Given the description of an element on the screen output the (x, y) to click on. 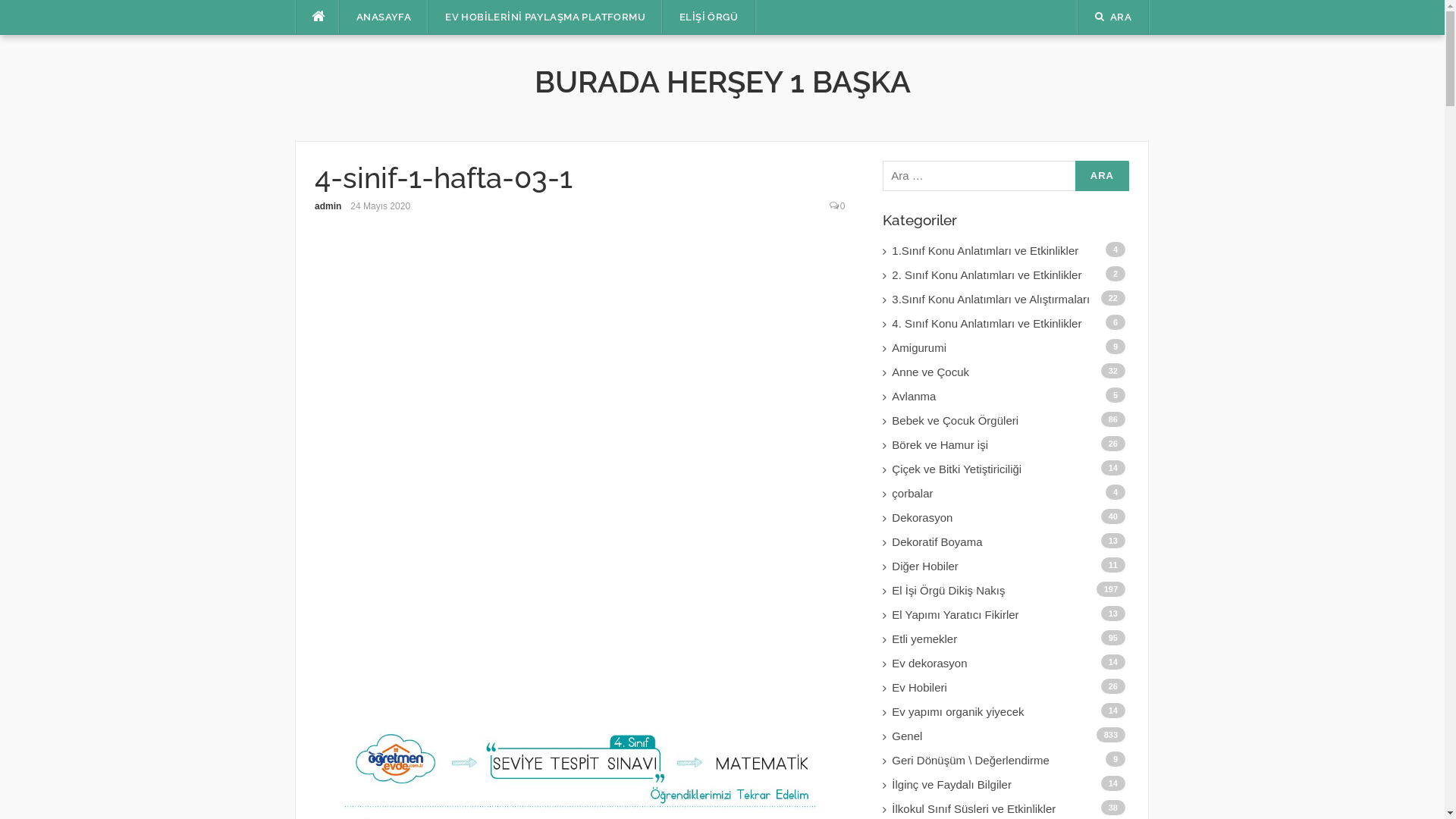
ARA Element type: text (1113, 16)
Etli yemekler Element type: text (1010, 639)
admin Element type: text (327, 205)
Ara Element type: text (1102, 175)
Dekorasyon Element type: text (1010, 517)
Ev Hobileri Element type: text (1010, 687)
Genel Element type: text (1010, 736)
0 Element type: text (842, 205)
Dekoratif Boyama Element type: text (1010, 542)
Ev dekorasyon Element type: text (1010, 663)
Amigurumi Element type: text (1010, 347)
Avlanma Element type: text (1010, 396)
ANASAYFA Element type: text (383, 17)
Advertisement Element type: hover (579, 465)
